Given the description of an element on the screen output the (x, y) to click on. 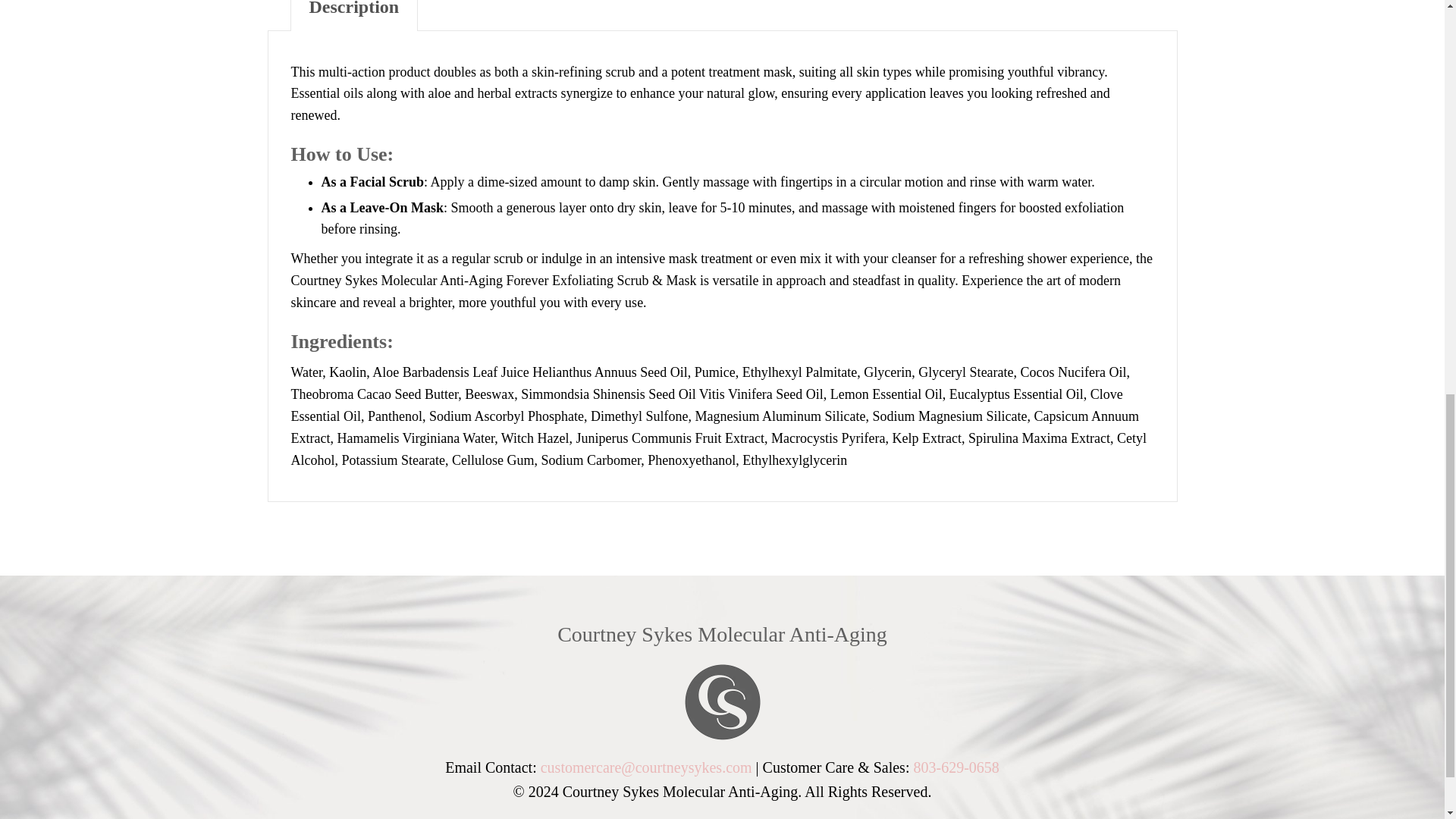
Fav-Icon (722, 700)
Courtney Sykes Molecular Anti-Aging (721, 634)
